Given the description of an element on the screen output the (x, y) to click on. 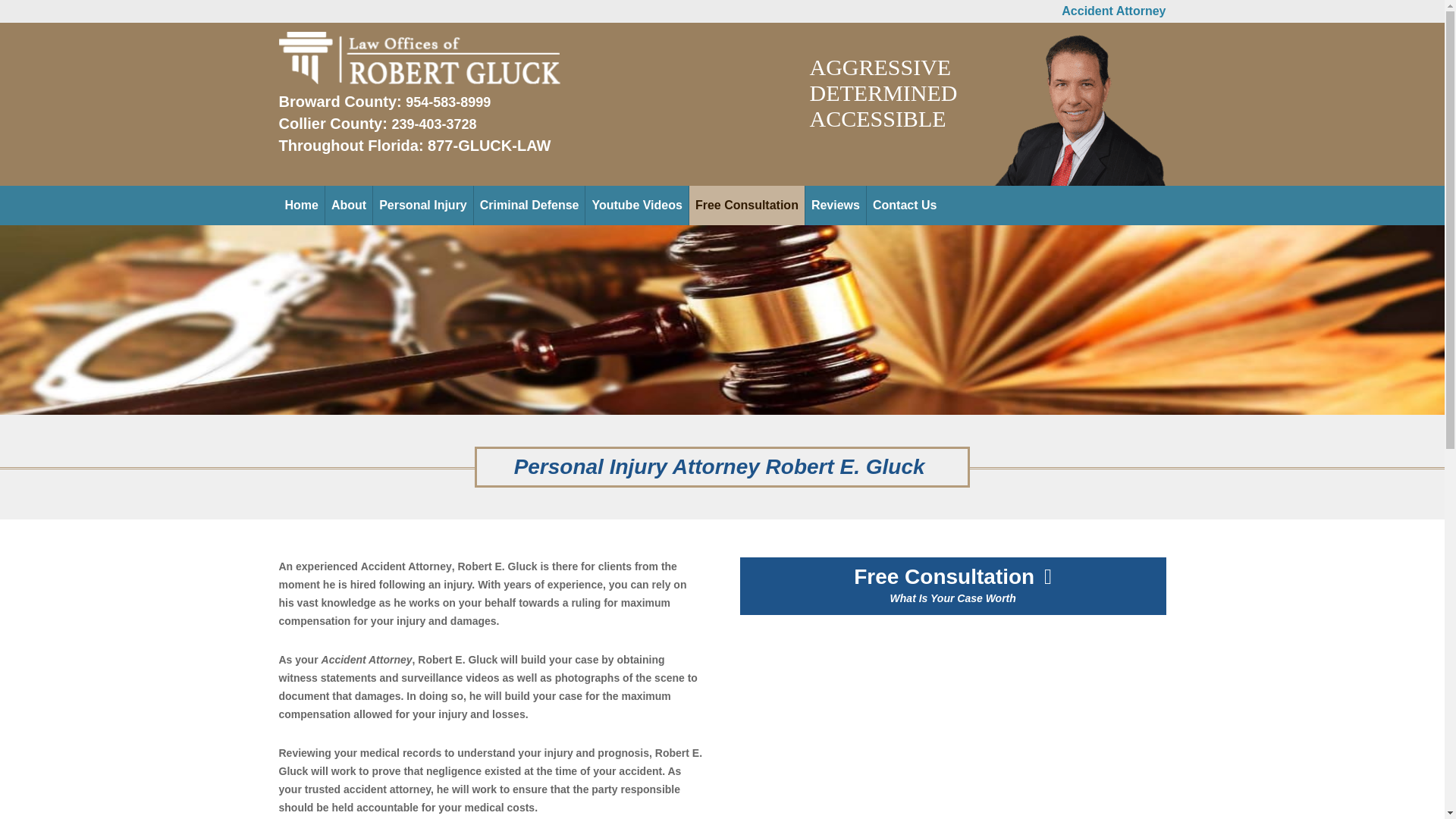
Contact Us (904, 205)
Personal Injury (422, 205)
Youtube Videos (636, 205)
239-403-3728 (433, 124)
Reviews (835, 205)
954-583-8999 (448, 102)
Free Consultation (746, 205)
About (348, 205)
Home (301, 205)
Criminal Defense (529, 205)
